Given the description of an element on the screen output the (x, y) to click on. 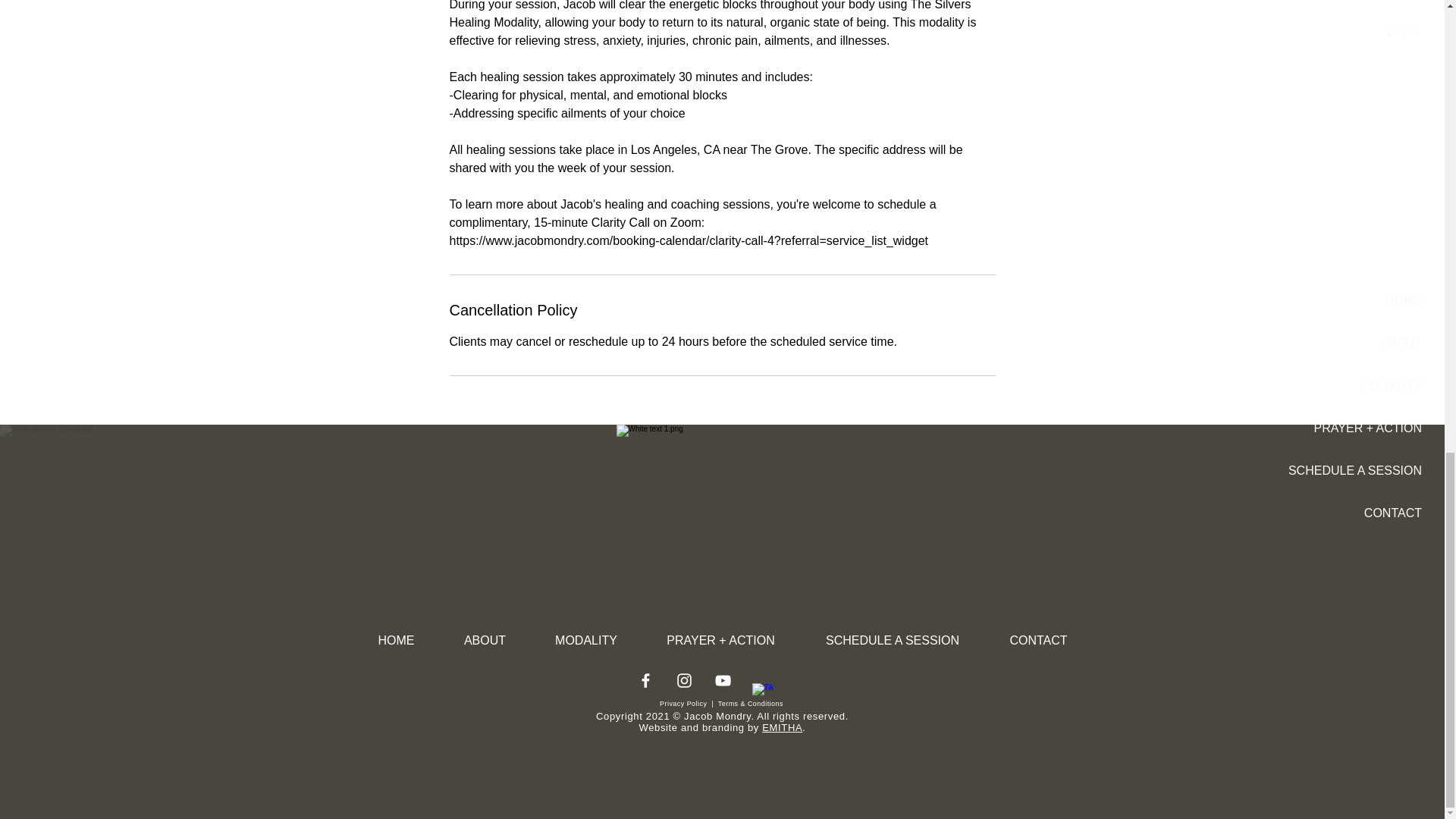
HOME (396, 640)
ABOUT (485, 640)
SCHEDULE A SESSION (892, 640)
CONTACT (1038, 640)
MODALITY (586, 640)
EMITHA (781, 727)
